Given the description of an element on the screen output the (x, y) to click on. 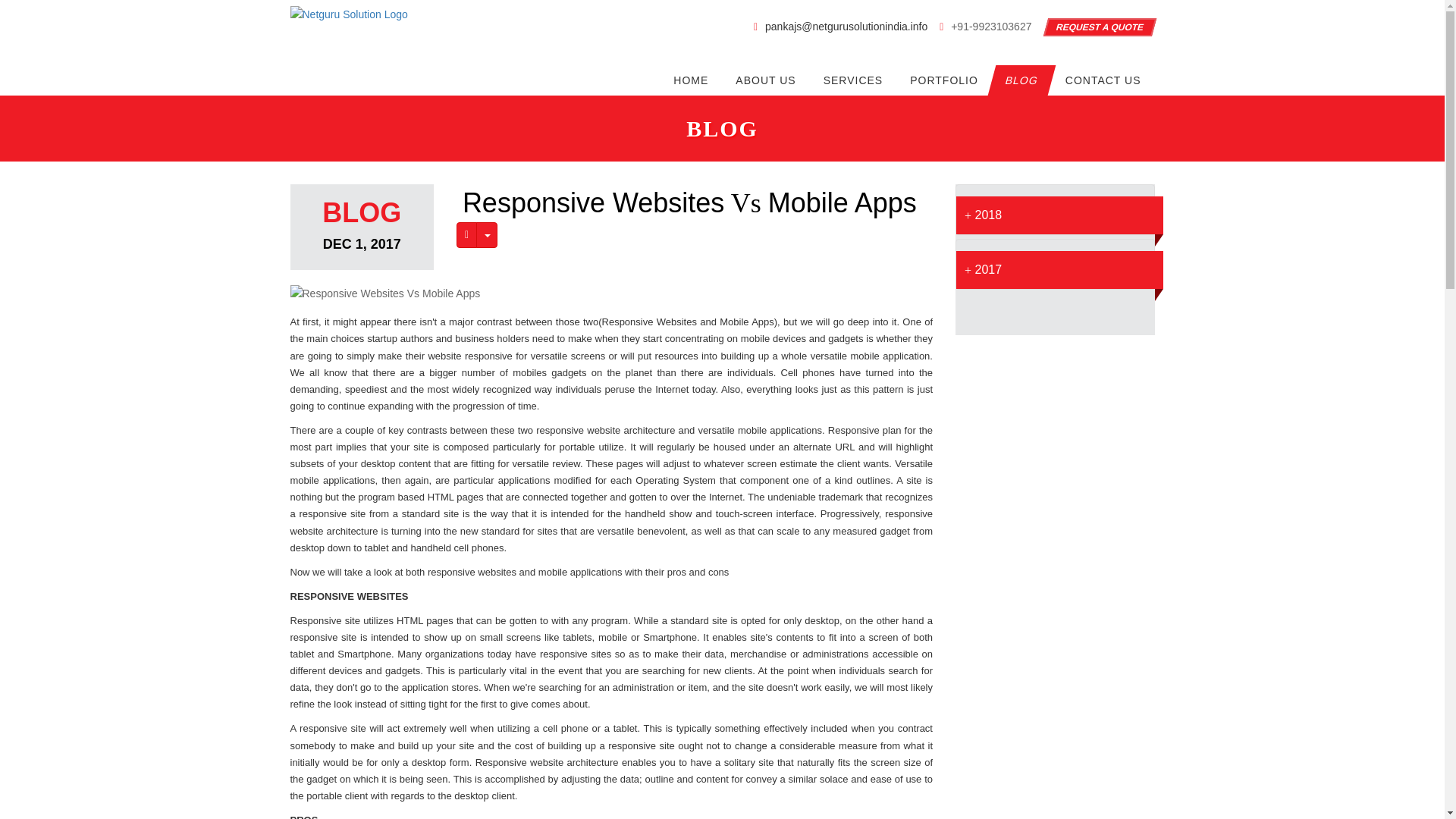
Mobile Apps (842, 202)
SERVICES (852, 80)
ABOUT US (765, 80)
CONTACT US (1102, 80)
PORTFOLIO (943, 80)
HOME (690, 80)
HOME (690, 80)
Responsive Websites (594, 202)
BLOG (1018, 80)
BLOG (1018, 80)
ABOUT US (765, 80)
Netguru Solution Logo (348, 14)
REQUEST A QUOTE (1097, 27)
CONTACT US (1102, 80)
Responsive Websites Vs Mobile Apps (384, 294)
